Given the description of an element on the screen output the (x, y) to click on. 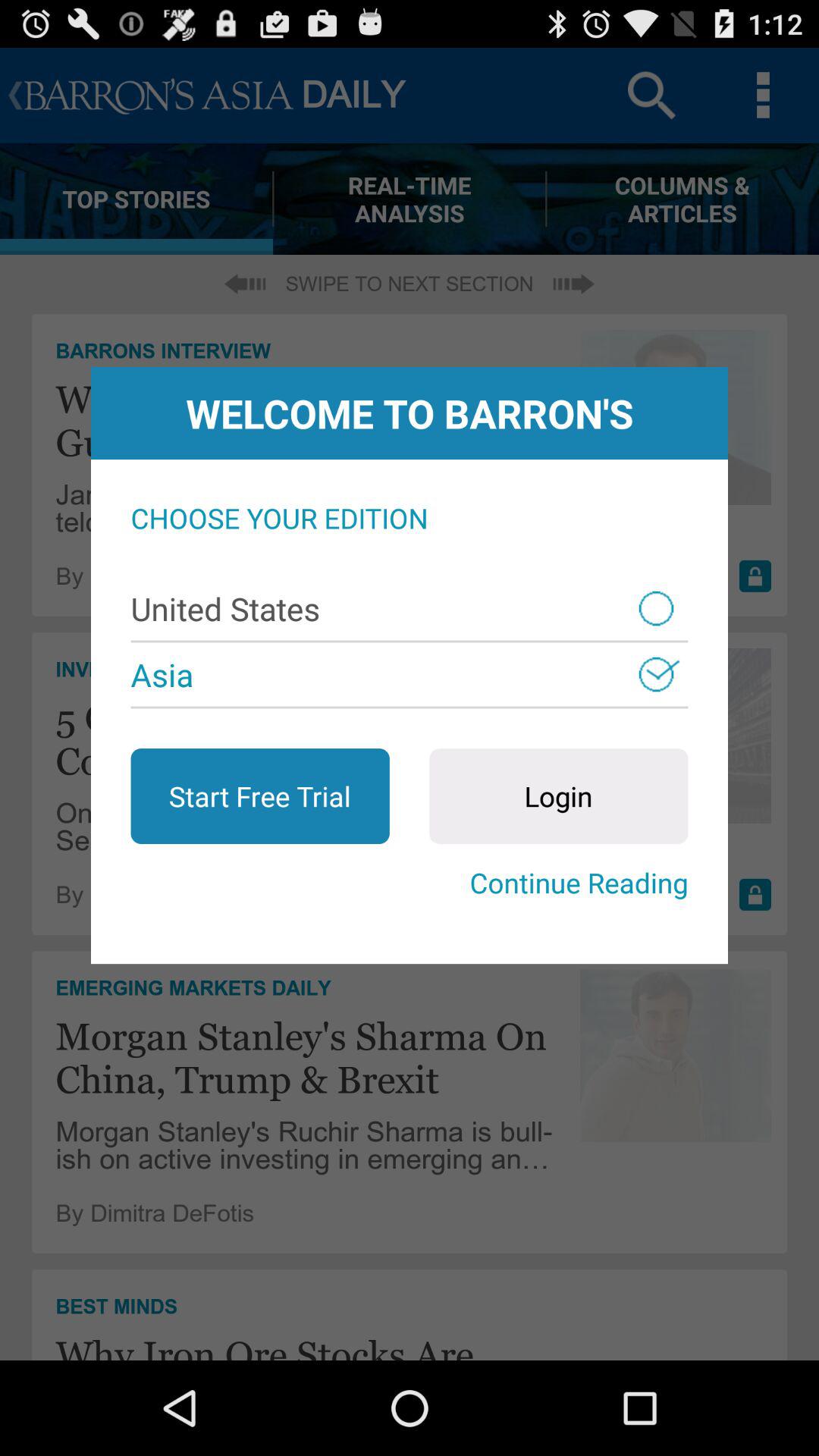
flip until asia item (409, 674)
